Given the description of an element on the screen output the (x, y) to click on. 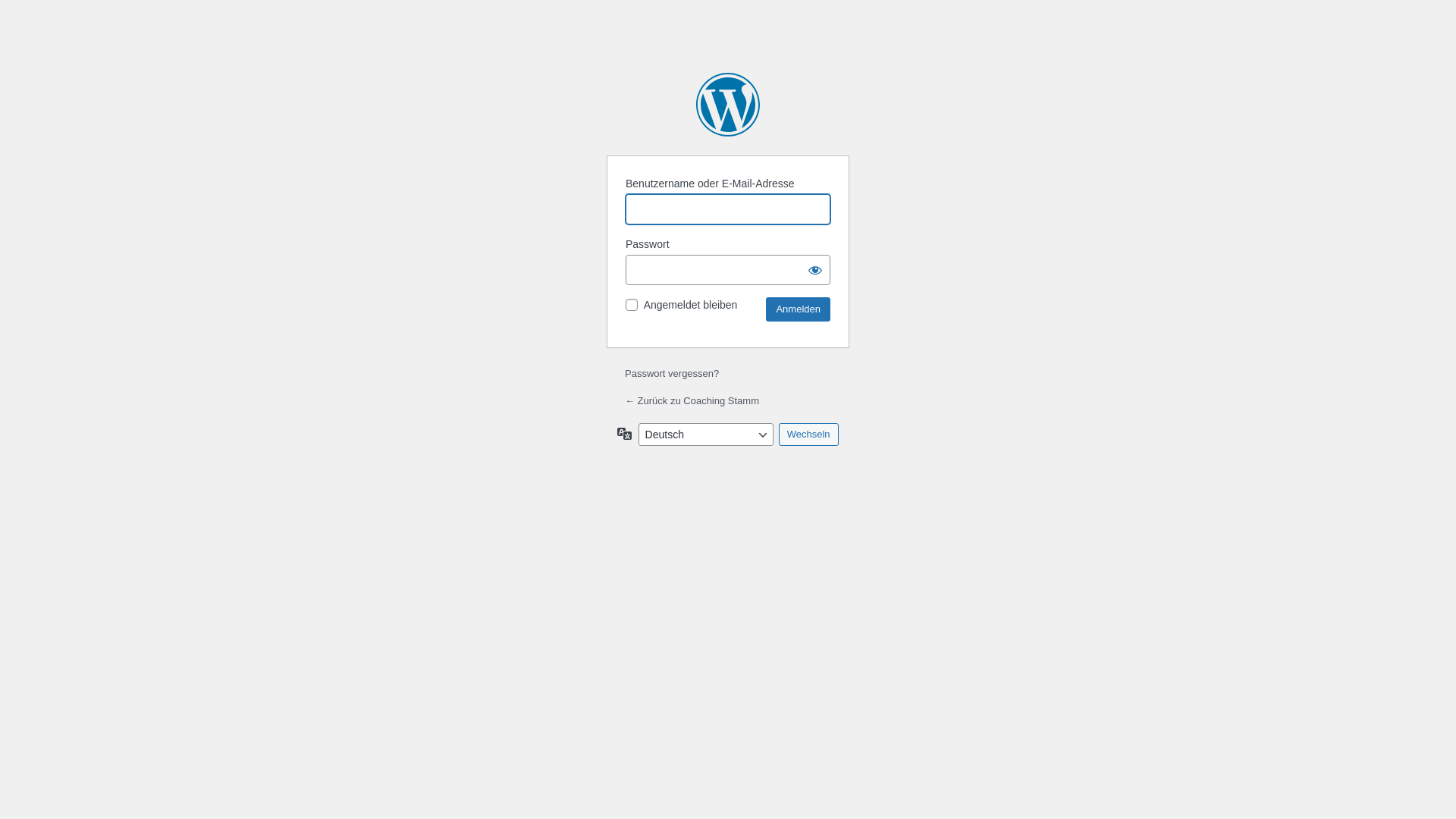
Wechseln Element type: text (808, 434)
Anmelden Element type: text (797, 309)
Passwort vergessen? Element type: text (671, 373)
Powered by WordPress Element type: text (727, 104)
